Given the description of an element on the screen output the (x, y) to click on. 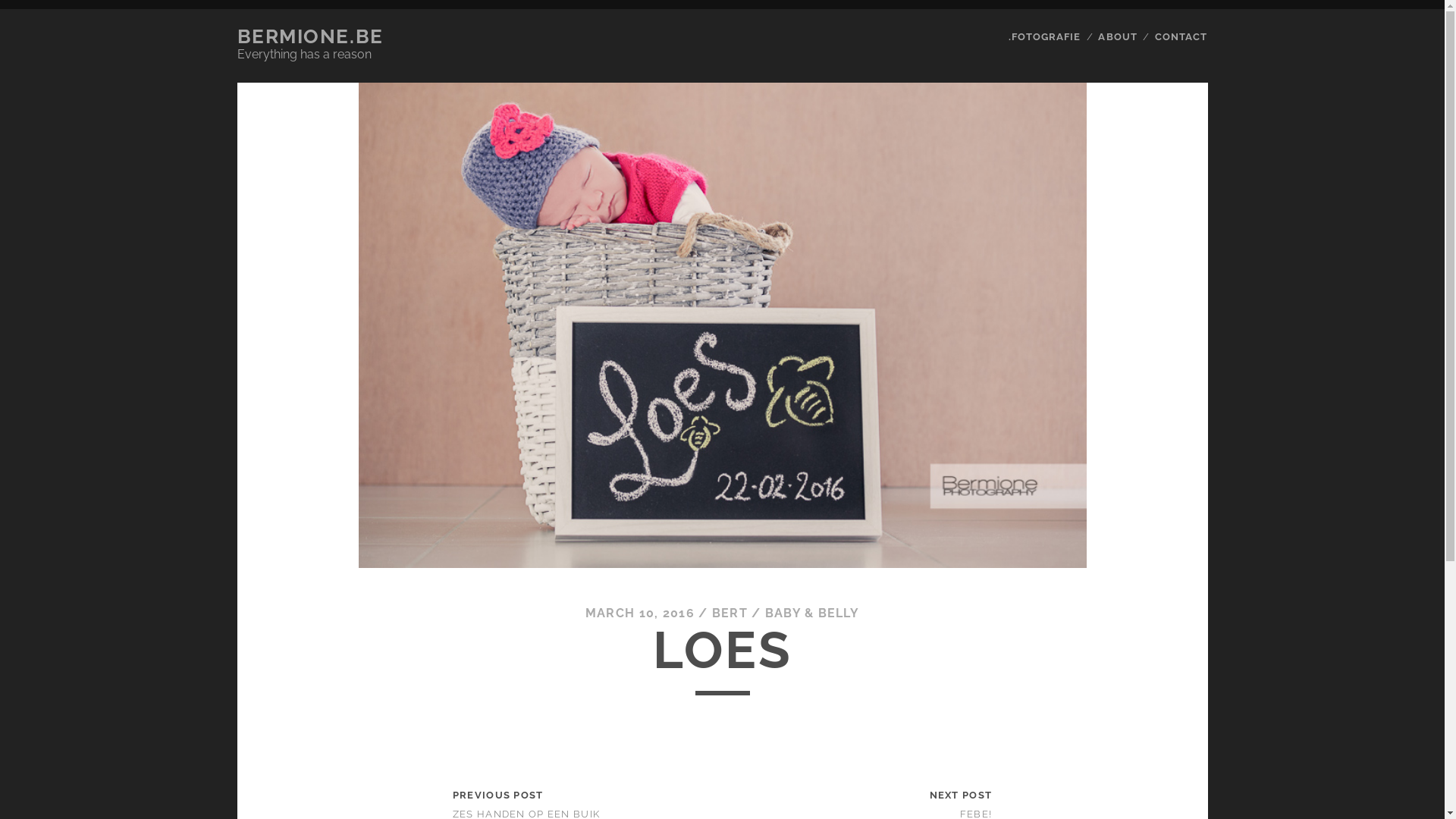
ABOUT Element type: text (1117, 37)
BERT Element type: text (729, 612)
.FOTOGRAFIE Element type: text (1044, 37)
BABY & BELLY Element type: text (812, 612)
CONTACT Element type: text (1180, 37)
BERMIONE.BE Element type: text (309, 36)
